Given the description of an element on the screen output the (x, y) to click on. 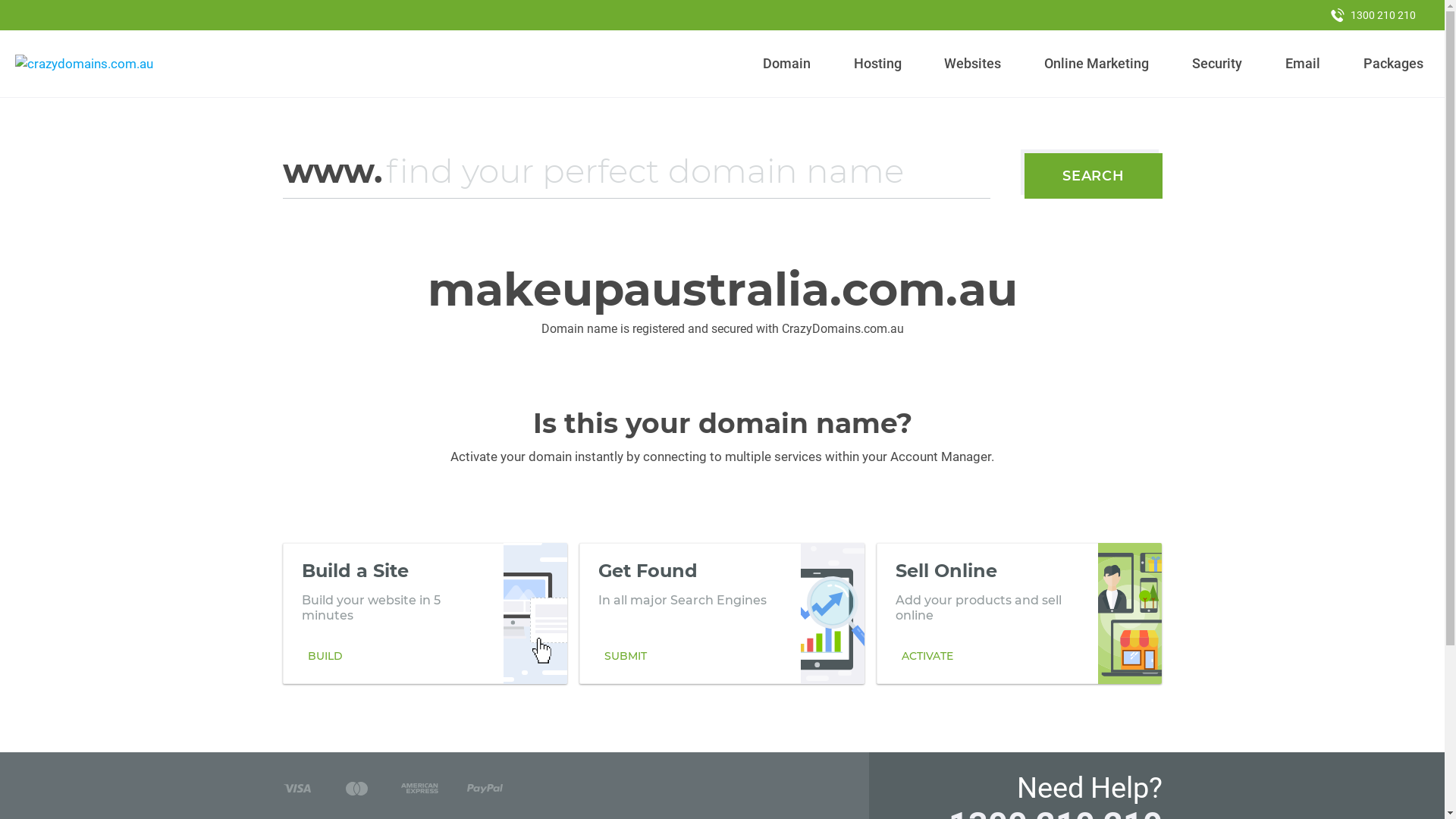
Email Element type: text (1302, 63)
Online Marketing Element type: text (1096, 63)
Hosting Element type: text (877, 63)
Build a Site
Build your website in 5 minutes
BUILD Element type: text (424, 613)
SEARCH Element type: text (1092, 175)
Sell Online
Add your products and sell online
ACTIVATE Element type: text (1018, 613)
Security Element type: text (1217, 63)
Packages Element type: text (1392, 63)
Domain Element type: text (786, 63)
1300 210 210 Element type: text (1373, 15)
Get Found
In all major Search Engines
SUBMIT Element type: text (721, 613)
Websites Element type: text (972, 63)
